Given the description of an element on the screen output the (x, y) to click on. 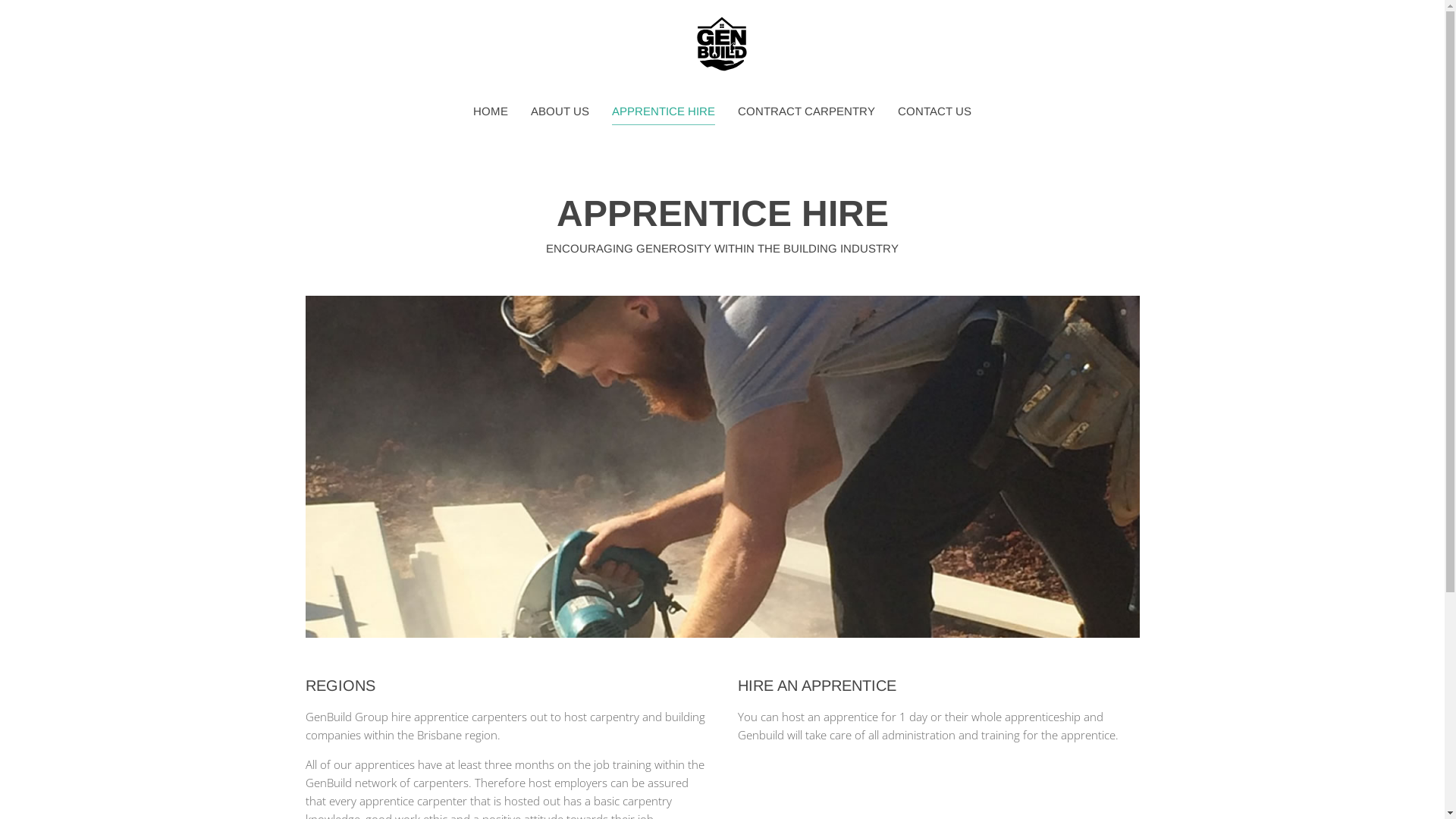
CONTACT US Element type: text (934, 111)
ABOUT US Element type: text (559, 111)
CONTRACT CARPENTRY Element type: text (806, 111)
APPRENTICE HIRE Element type: text (663, 111)
HOME Element type: text (490, 111)
